Given the description of an element on the screen output the (x, y) to click on. 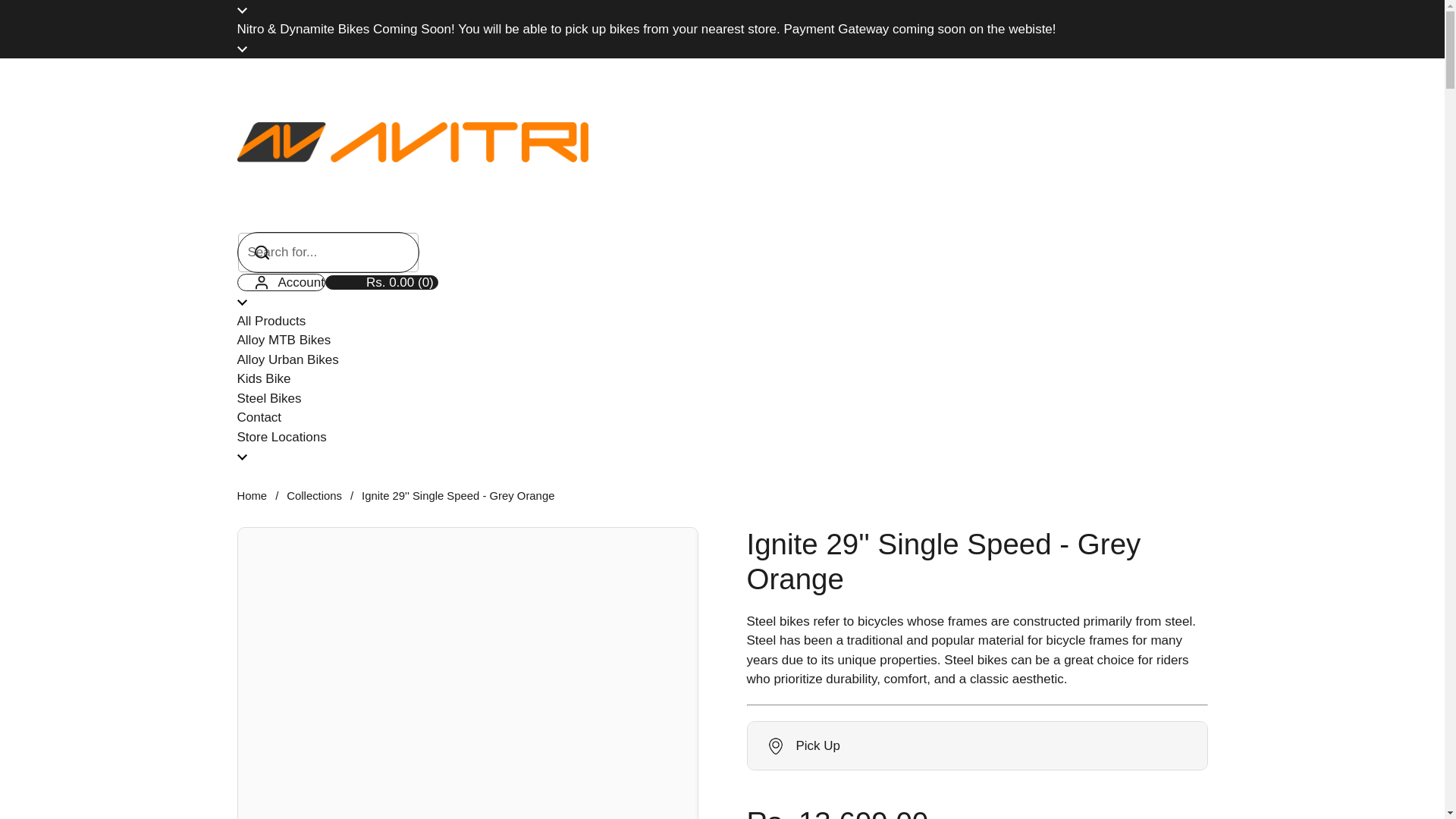
Contact (258, 418)
Home (250, 495)
Kids Bike (262, 379)
Contact (258, 418)
All Products (270, 321)
Account (381, 281)
Kids Bike (279, 281)
Avitri Bikes India (262, 379)
Steel Bikes (411, 222)
Alloy Urban Bikes (268, 399)
Store Locations (286, 360)
Collections (280, 437)
Alloy Urban Bikes (314, 495)
Store Locations (286, 360)
